Given the description of an element on the screen output the (x, y) to click on. 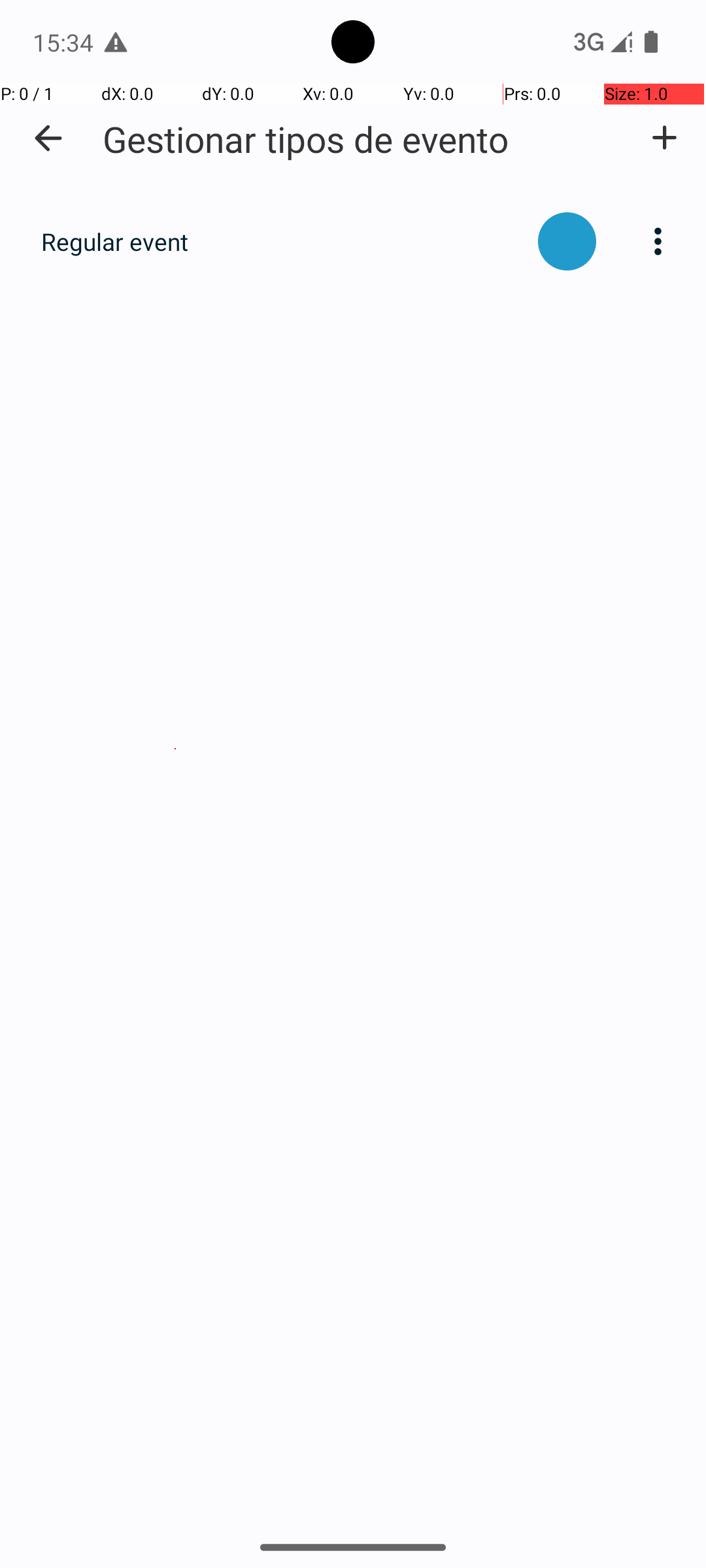
Gestionar tipos de evento Element type: android.widget.TextView (305, 138)
Agregar un nuevo tipo de evento Element type: android.widget.Button (664, 137)
Regular event Element type: android.widget.TextView (282, 241)
